Given the description of an element on the screen output the (x, y) to click on. 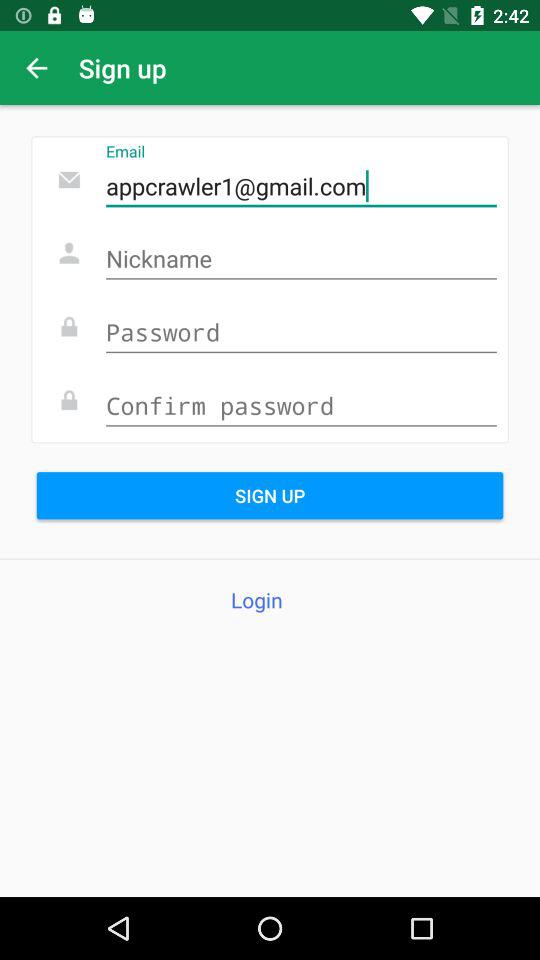
click to enter the password (301, 333)
